Given the description of an element on the screen output the (x, y) to click on. 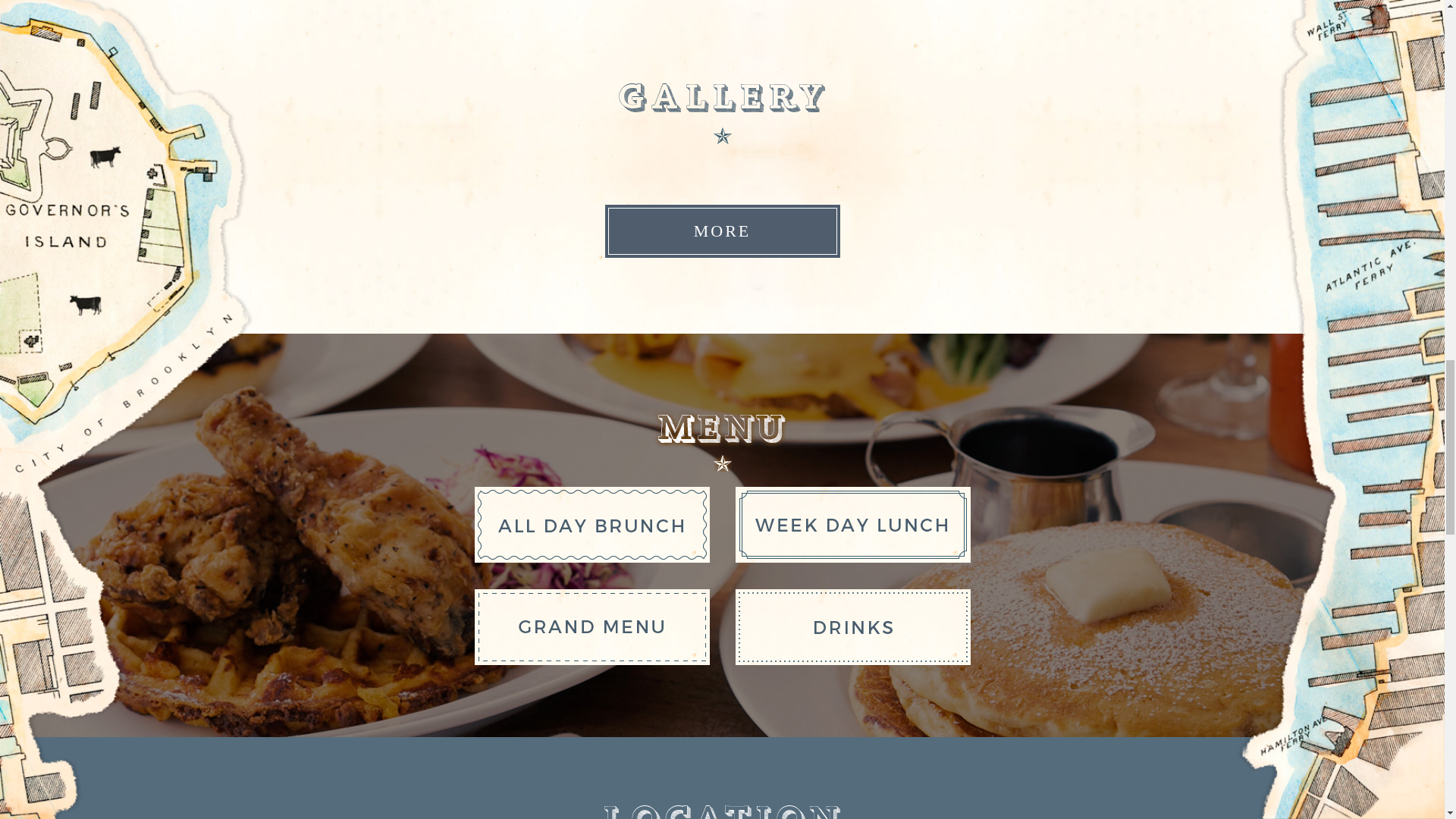
MORE (722, 230)
